Given the description of an element on the screen output the (x, y) to click on. 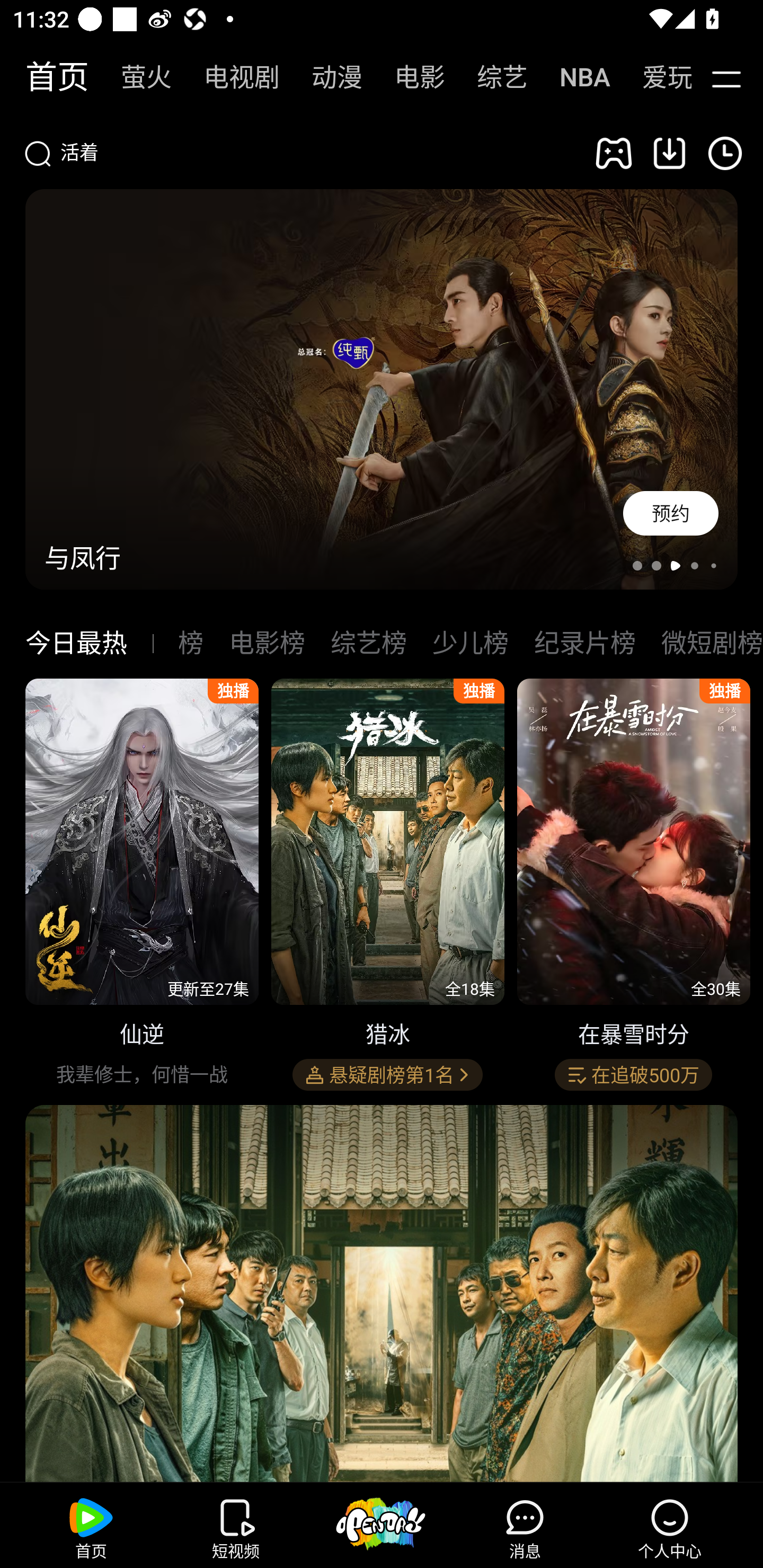
首页 (47, 77)
萤火 (136, 77)
电视剧 (231, 77)
动漫 (327, 77)
电影 (409, 77)
综艺 (492, 77)
NBA (575, 77)
爱玩 (653, 77)
活着 (297, 152)
预约 (670, 513)
动漫榜 (191, 643)
电影榜 (266, 643)
综艺榜 (368, 643)
少儿榜 (470, 643)
纪录片榜 (584, 643)
微短剧榜 (712, 643)
仙逆 我辈修士，何惜一战 (141, 887)
猎冰 悬疑剧榜第1名 (387, 887)
在暴雪时分 在追破500万 (633, 887)
悬疑剧榜第1名 (387, 1074)
在追破500万 (632, 1074)
